Given the description of an element on the screen output the (x, y) to click on. 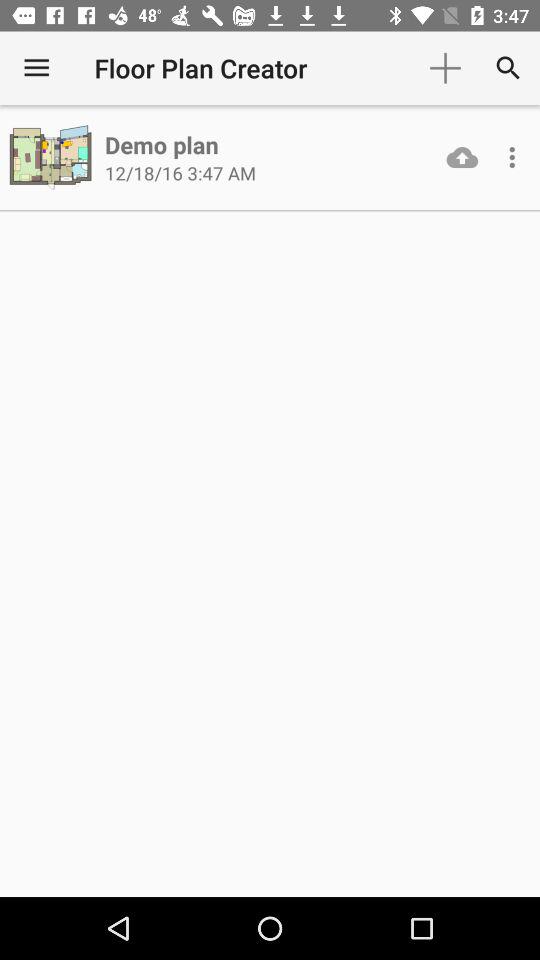
select the icon next to the floor plan creator icon (444, 67)
